Given the description of an element on the screen output the (x, y) to click on. 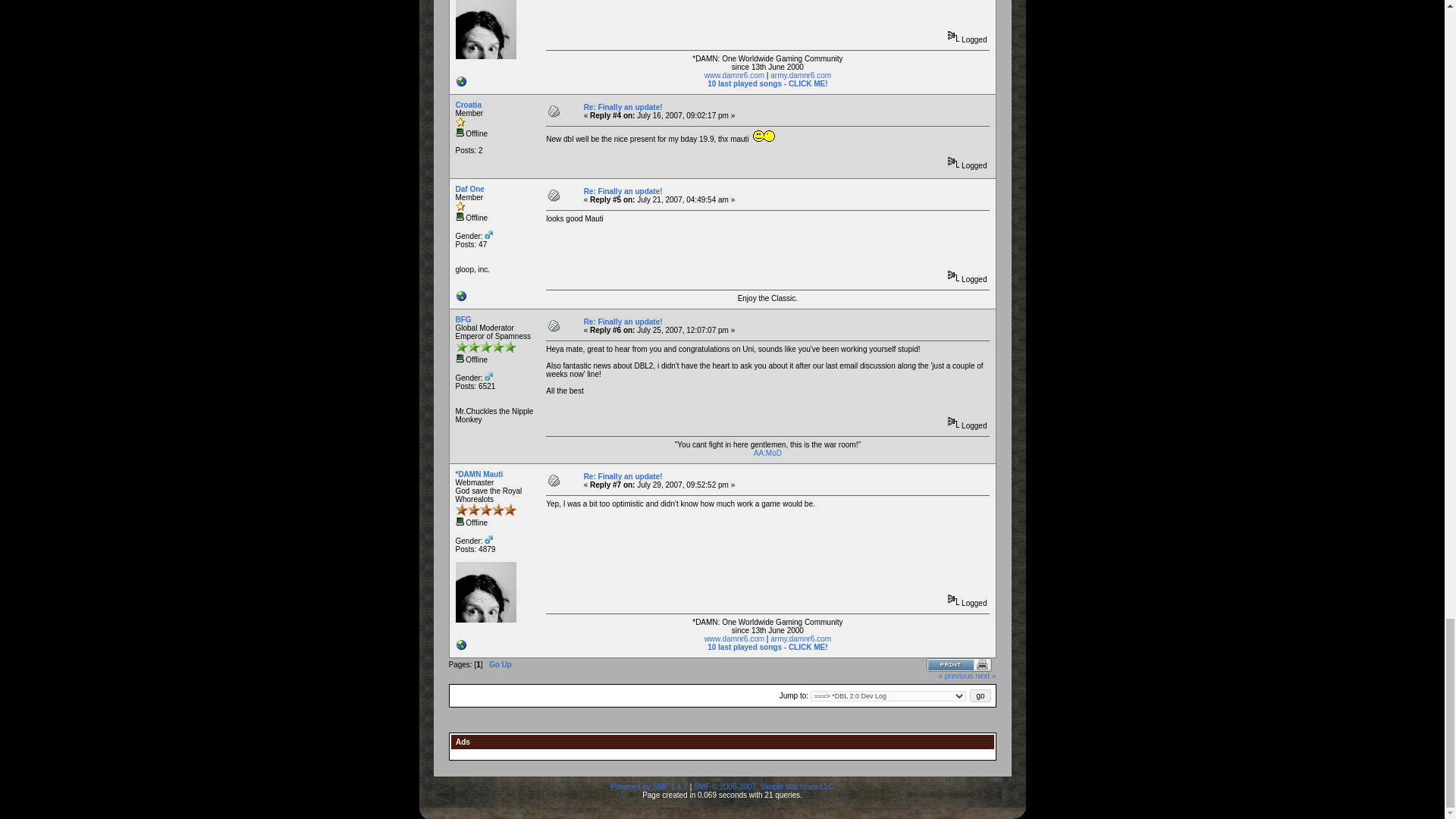
View the profile of Daf One (468, 189)
go (979, 695)
View the profile of Croatia (467, 104)
Apple Computer (460, 299)
